Given the description of an element on the screen output the (x, y) to click on. 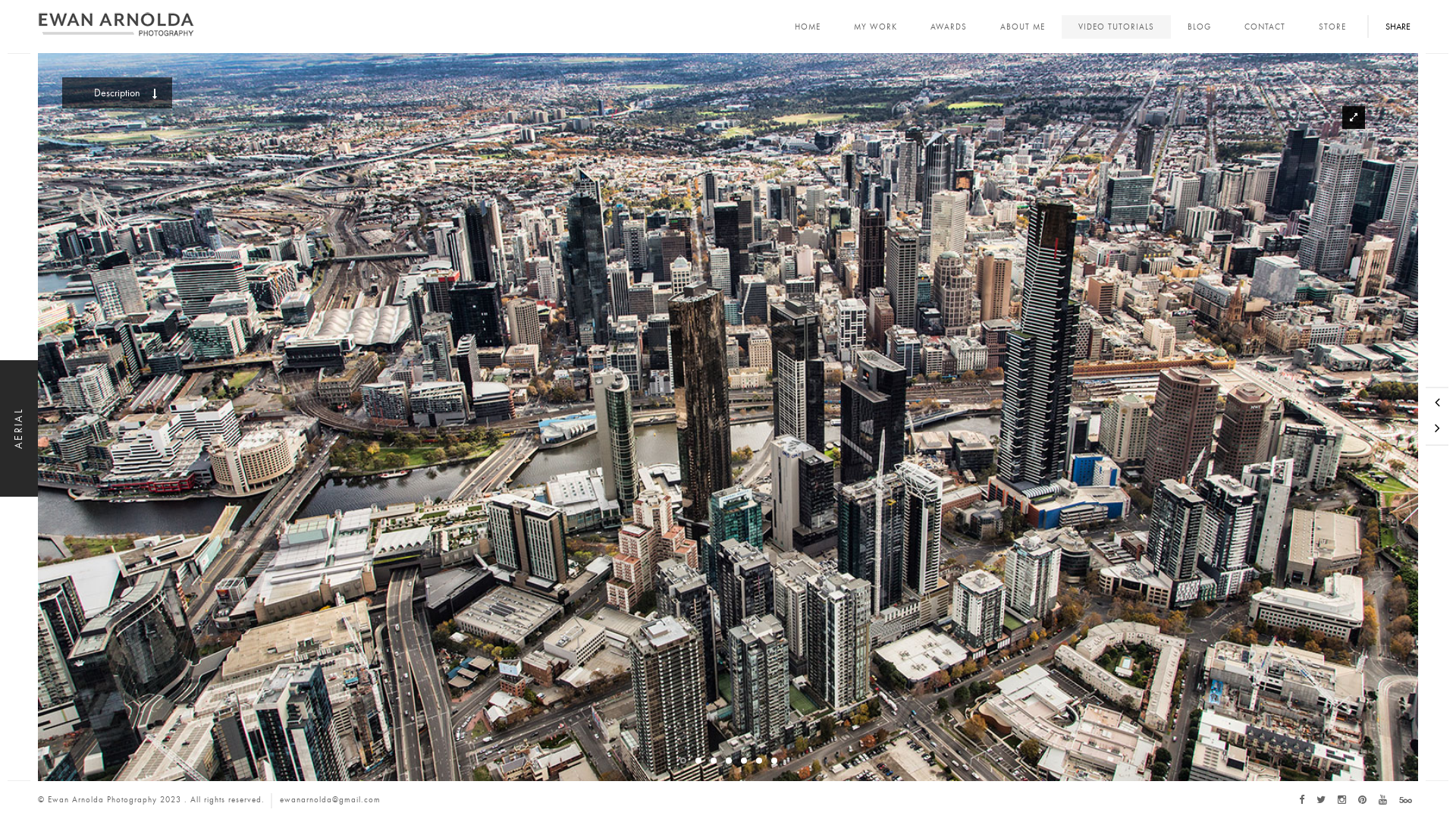
CONTACT Element type: text (1264, 26)
VIDEO TUTORIALS Element type: text (1115, 26)
ewanarnolda@gmail.com Element type: text (330, 799)
BLOG Element type: text (1198, 26)
AWARDS Element type: text (948, 26)
STORE Element type: text (1332, 26)
ABOUT ME Element type: text (1022, 26)
HOME Element type: text (807, 26)
MY WORK Element type: text (875, 26)
